Given the description of an element on the screen output the (x, y) to click on. 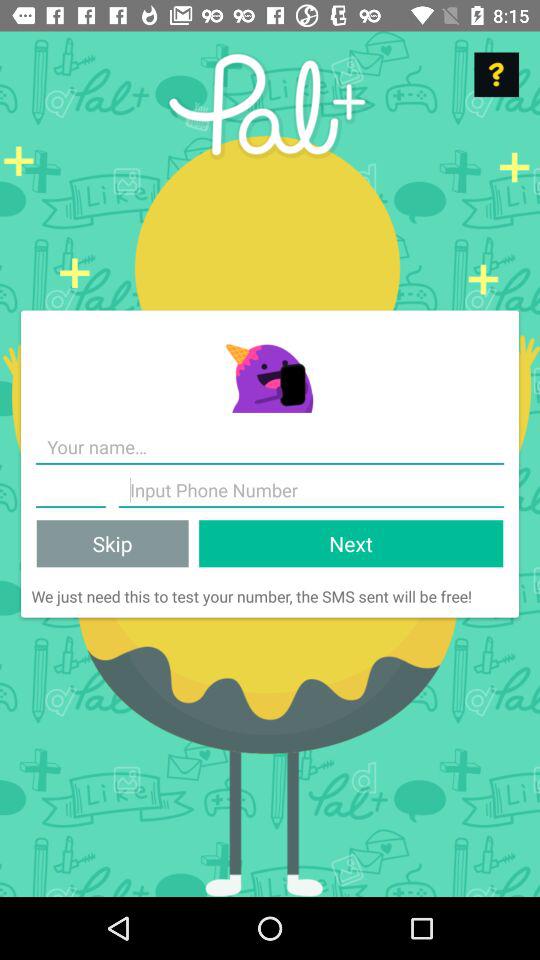
enter a phone number (311, 490)
